Given the description of an element on the screen output the (x, y) to click on. 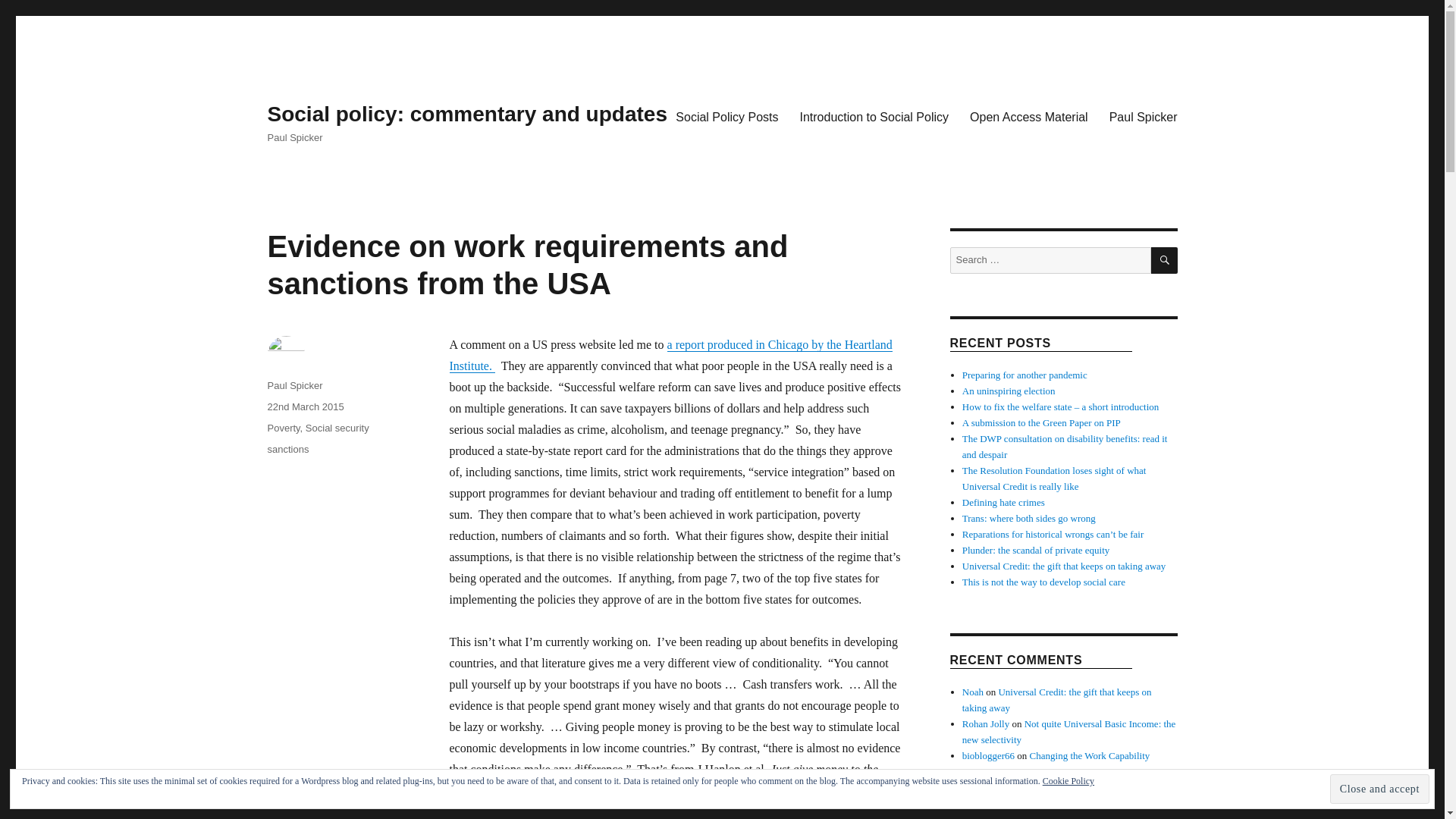
sanctions (287, 449)
Close and accept (1379, 788)
Paul Spicker (293, 385)
Paul Spicker (1143, 116)
a report produced in Chicago by the Heartland Institute. (669, 355)
Poverty (282, 428)
Introduction to Social Policy (874, 116)
Social policy: commentary and updates (466, 114)
Open Access Material (1029, 116)
Social security (337, 428)
Social Policy Posts (727, 116)
22nd March 2015 (304, 406)
